Given the description of an element on the screen output the (x, y) to click on. 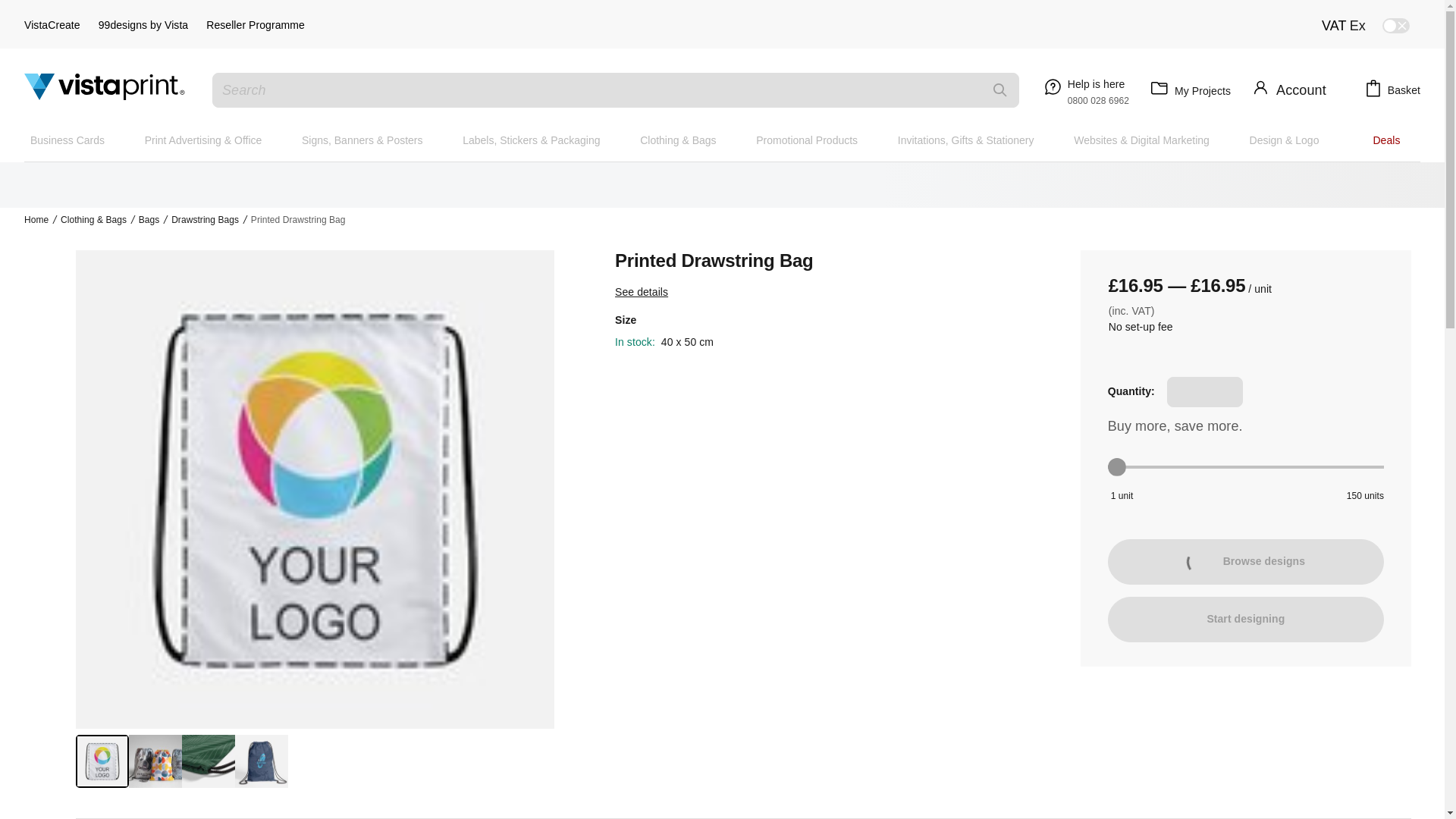
99designs by Vista (144, 25)
VistaCreate (52, 25)
My Projects (1188, 90)
Reseller Programme (255, 25)
Basket (1382, 90)
Ex (1085, 89)
Business Cards (1379, 25)
1 (67, 139)
Account (1246, 466)
